Given the description of an element on the screen output the (x, y) to click on. 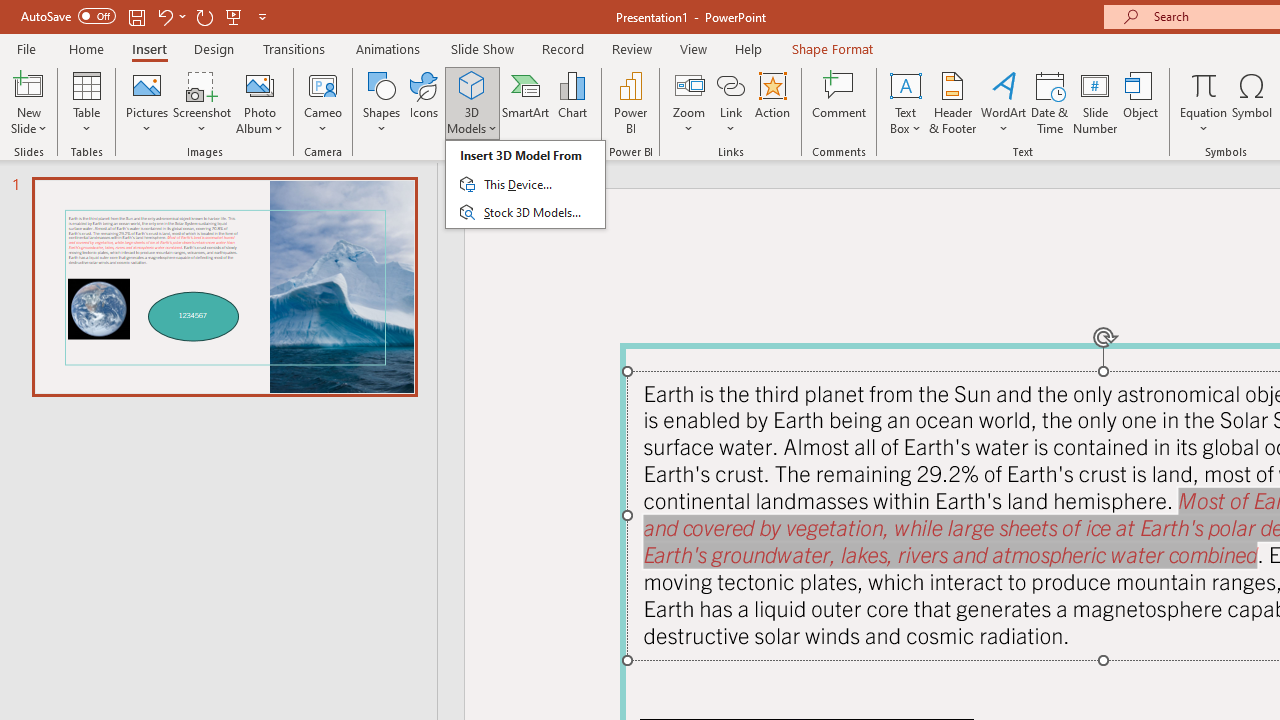
Table (86, 102)
WordArt (1004, 102)
Power BI (630, 102)
Photo Album... (259, 102)
